Given the description of an element on the screen output the (x, y) to click on. 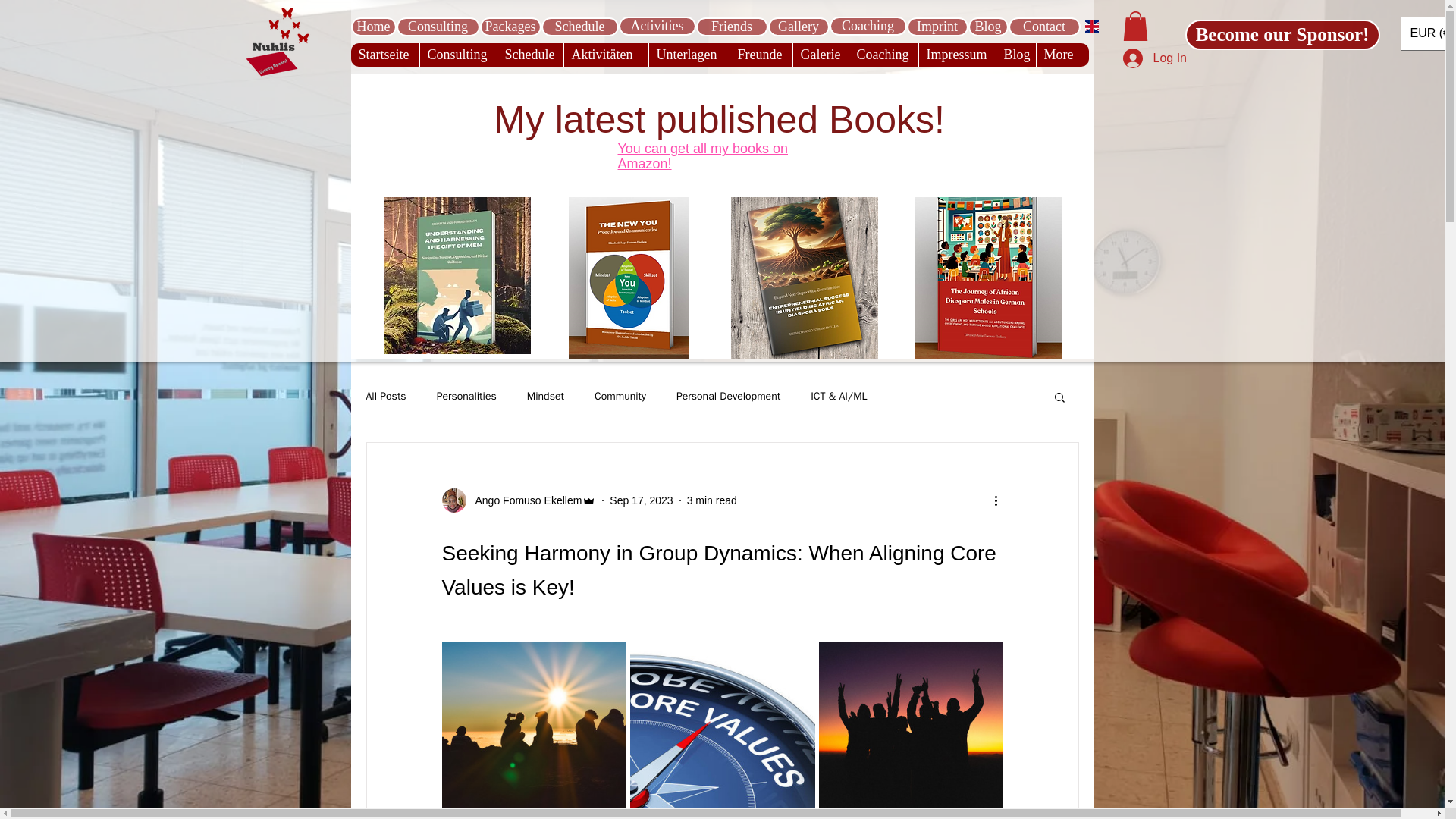
3 min read (711, 500)
Coaching (868, 26)
Personal Development (728, 396)
Friends (731, 26)
Startseite (384, 54)
Imprint (937, 26)
Log In (1134, 58)
Packages (509, 26)
Gallery (797, 26)
Freunde (760, 54)
Schedule (579, 26)
Mindset (545, 396)
Consulting (437, 26)
Coaching (882, 54)
Personalities (466, 396)
